Given the description of an element on the screen output the (x, y) to click on. 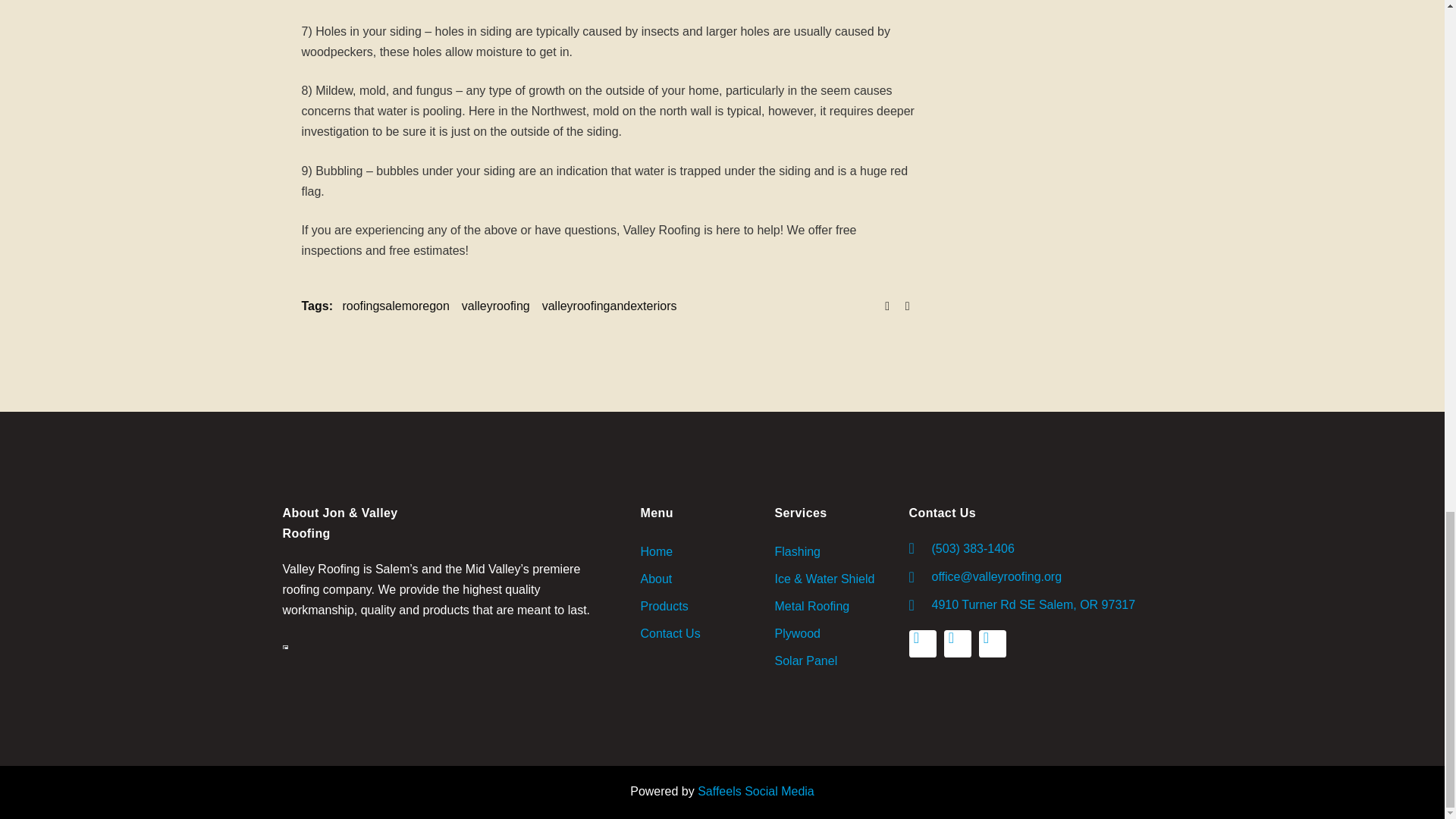
Saffeels Social Media (755, 790)
valleyroofingandexteriors (608, 305)
valleyroofing (495, 305)
roofingsalemoregon (395, 305)
